Given the description of an element on the screen output the (x, y) to click on. 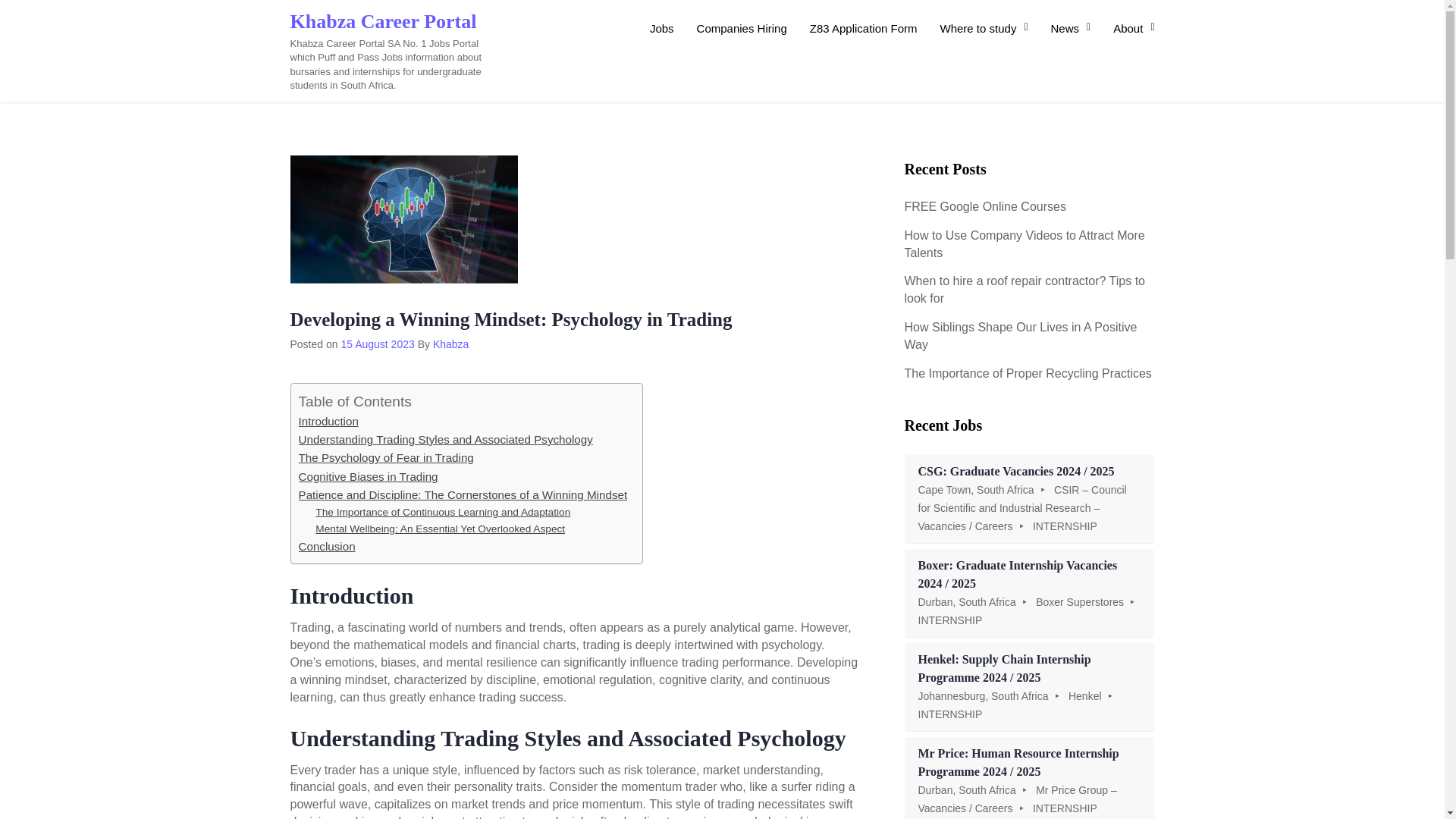
Khabza (450, 344)
Understanding Trading Styles and Associated Psychology (445, 439)
Khabza Career Portal (382, 21)
Z83 Application Form (862, 28)
Z83 Application Form (862, 28)
News (1070, 28)
The Psychology of Fear in Trading (386, 457)
Companies Hiring (741, 28)
Jobs (662, 28)
